Given the description of an element on the screen output the (x, y) to click on. 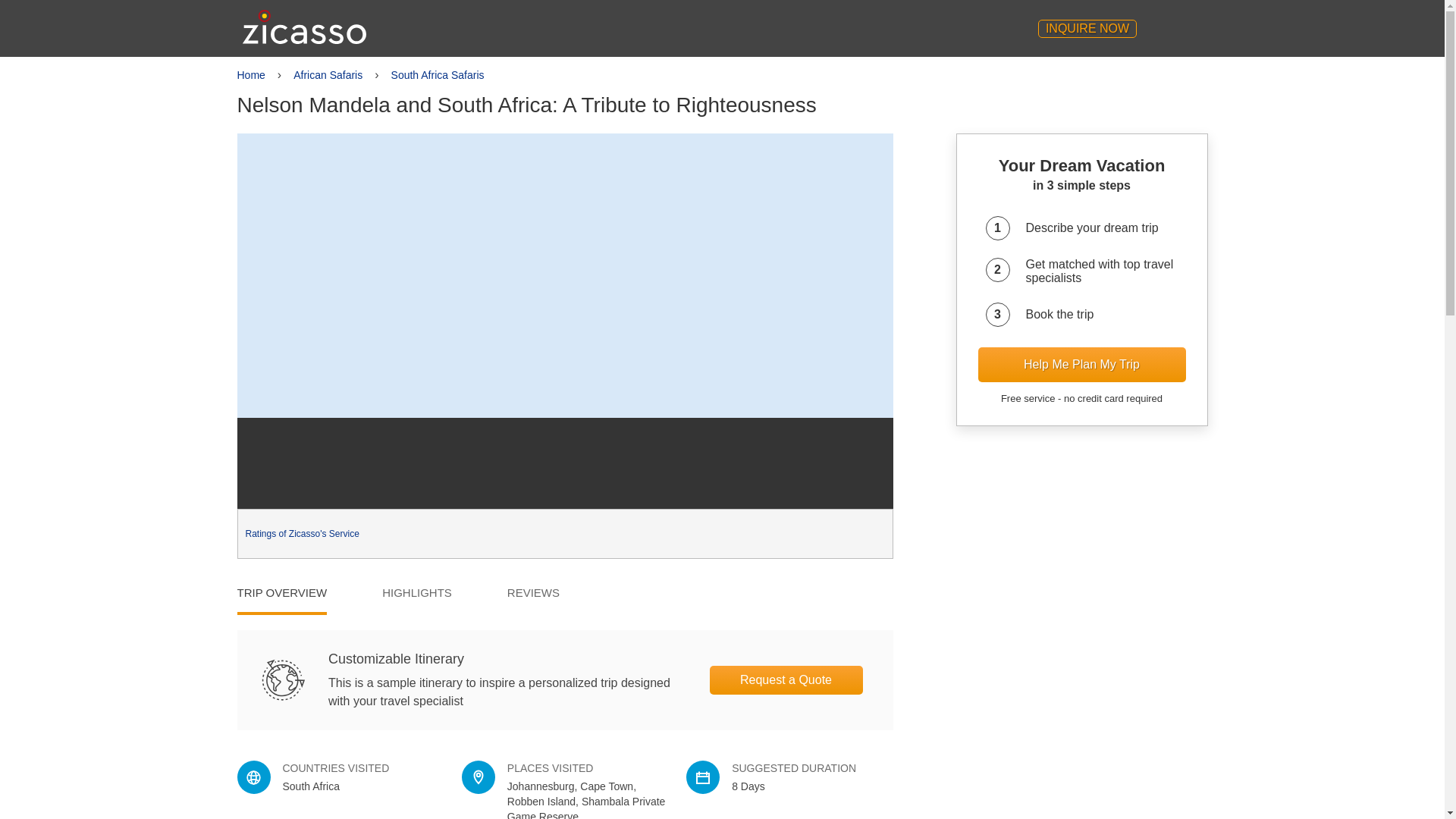
INQUIRE NOW (1087, 28)
Zicasso Logo (304, 26)
